Given the description of an element on the screen output the (x, y) to click on. 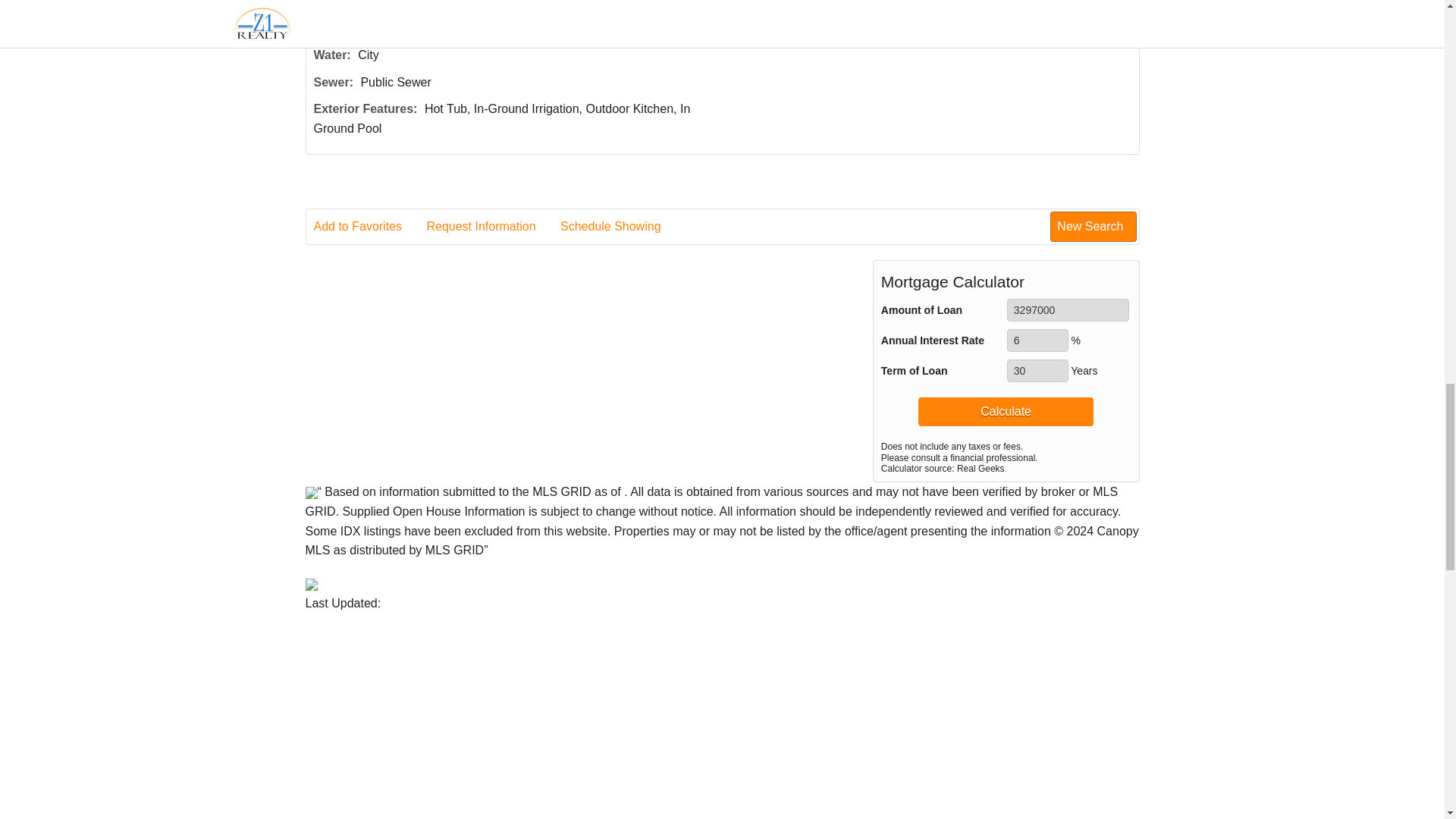
3297000 (1068, 309)
6 (1037, 340)
30 (1037, 370)
